Given the description of an element on the screen output the (x, y) to click on. 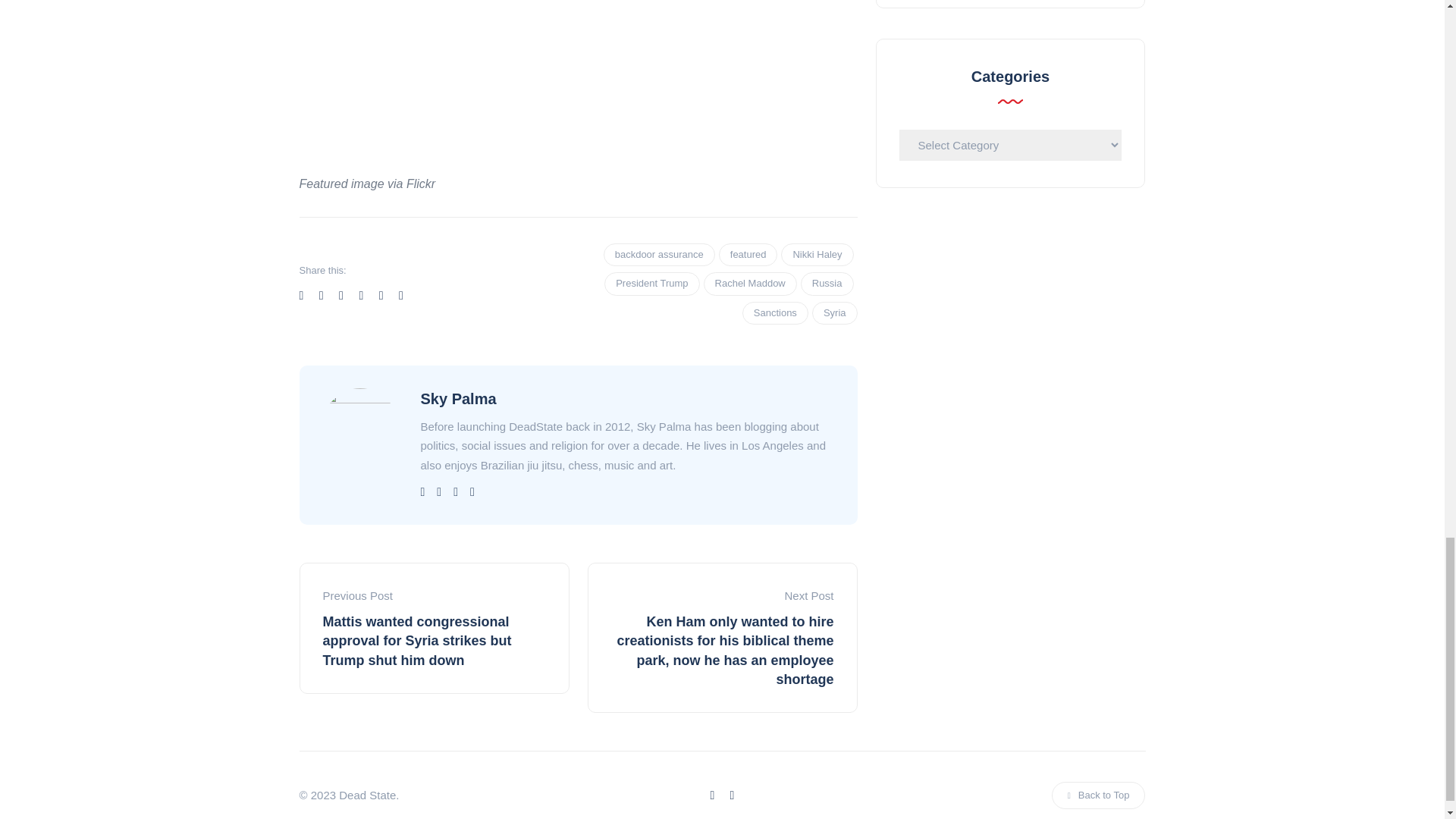
Nikki Haley (816, 254)
President Trump (651, 282)
Rachel Maddow (749, 282)
backdoor assurance (659, 254)
featured (748, 254)
